Given the description of an element on the screen output the (x, y) to click on. 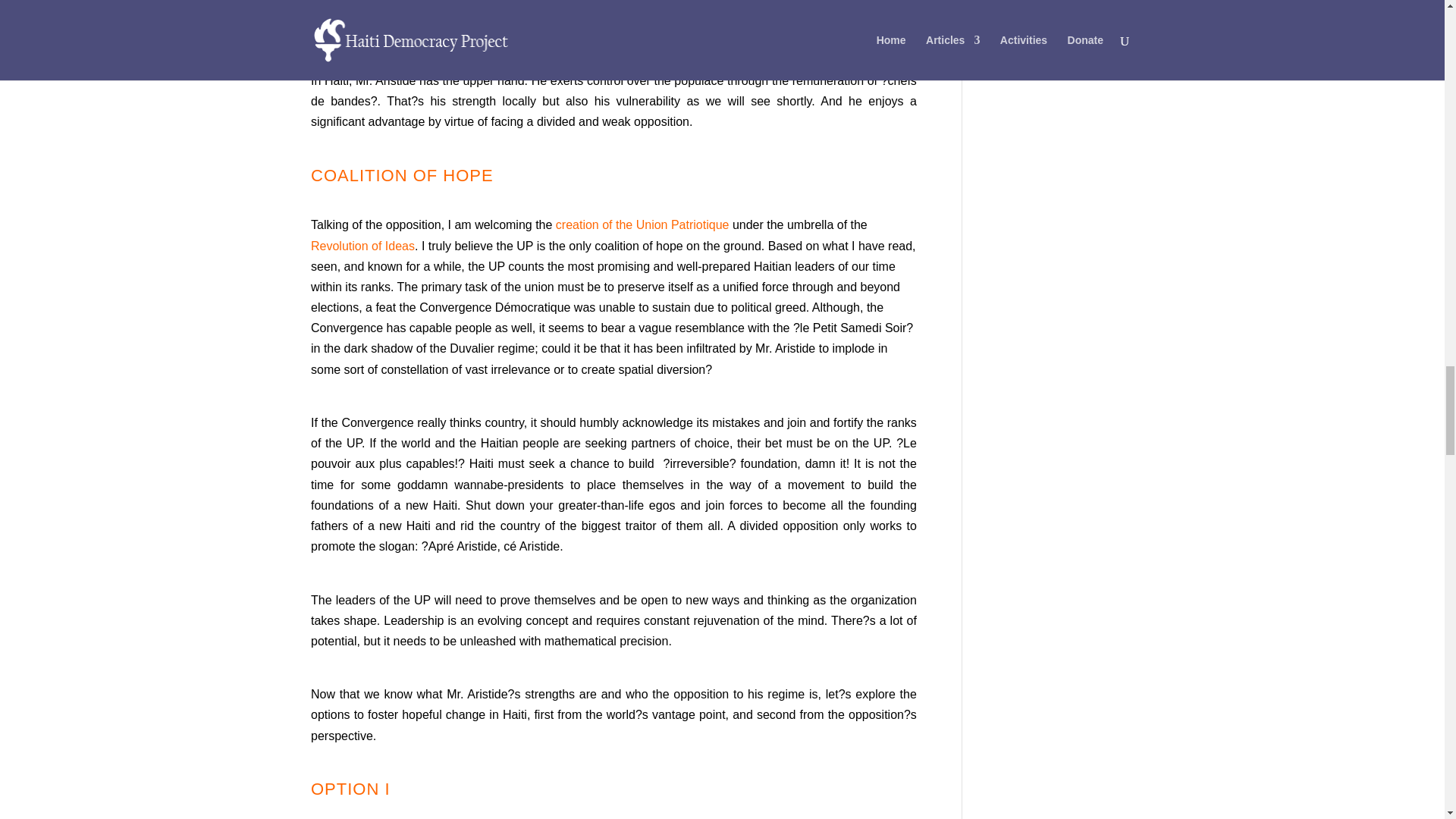
creation of the Union Patriotique (644, 224)
Ray Joseph?s article in the Wall Street Journal (614, 6)
Revolution of Ideas (362, 245)
